Given the description of an element on the screen output the (x, y) to click on. 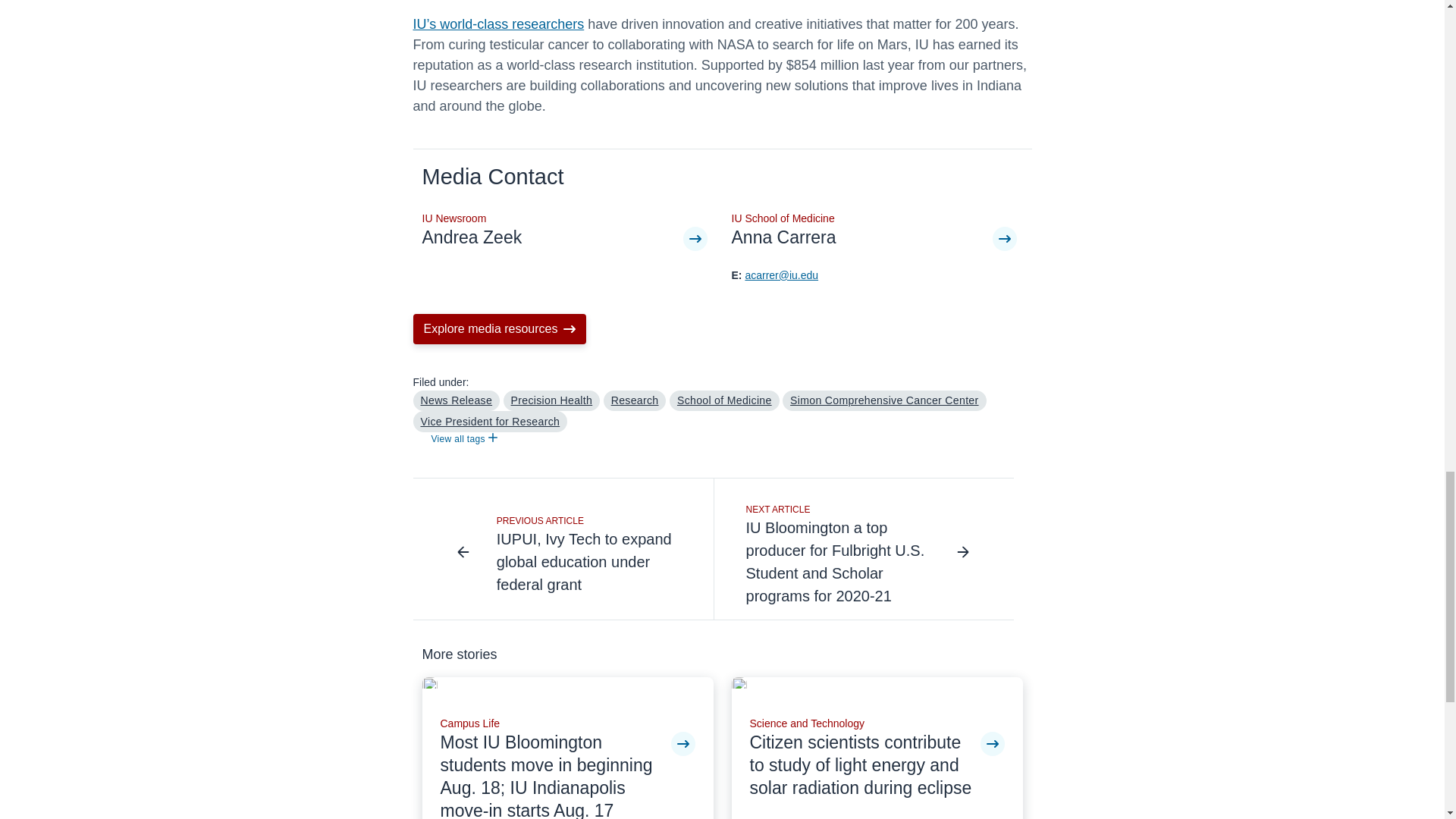
Andrea Zeek (552, 237)
View all tags Plus sign (463, 439)
Explore media resources (499, 328)
Anna Carrera (860, 237)
Simon Comprehensive Cancer Center (884, 400)
Precision Health (551, 400)
Plus sign (492, 437)
Research (635, 400)
Vice President for Research (489, 421)
School of Medicine (723, 400)
